Given the description of an element on the screen output the (x, y) to click on. 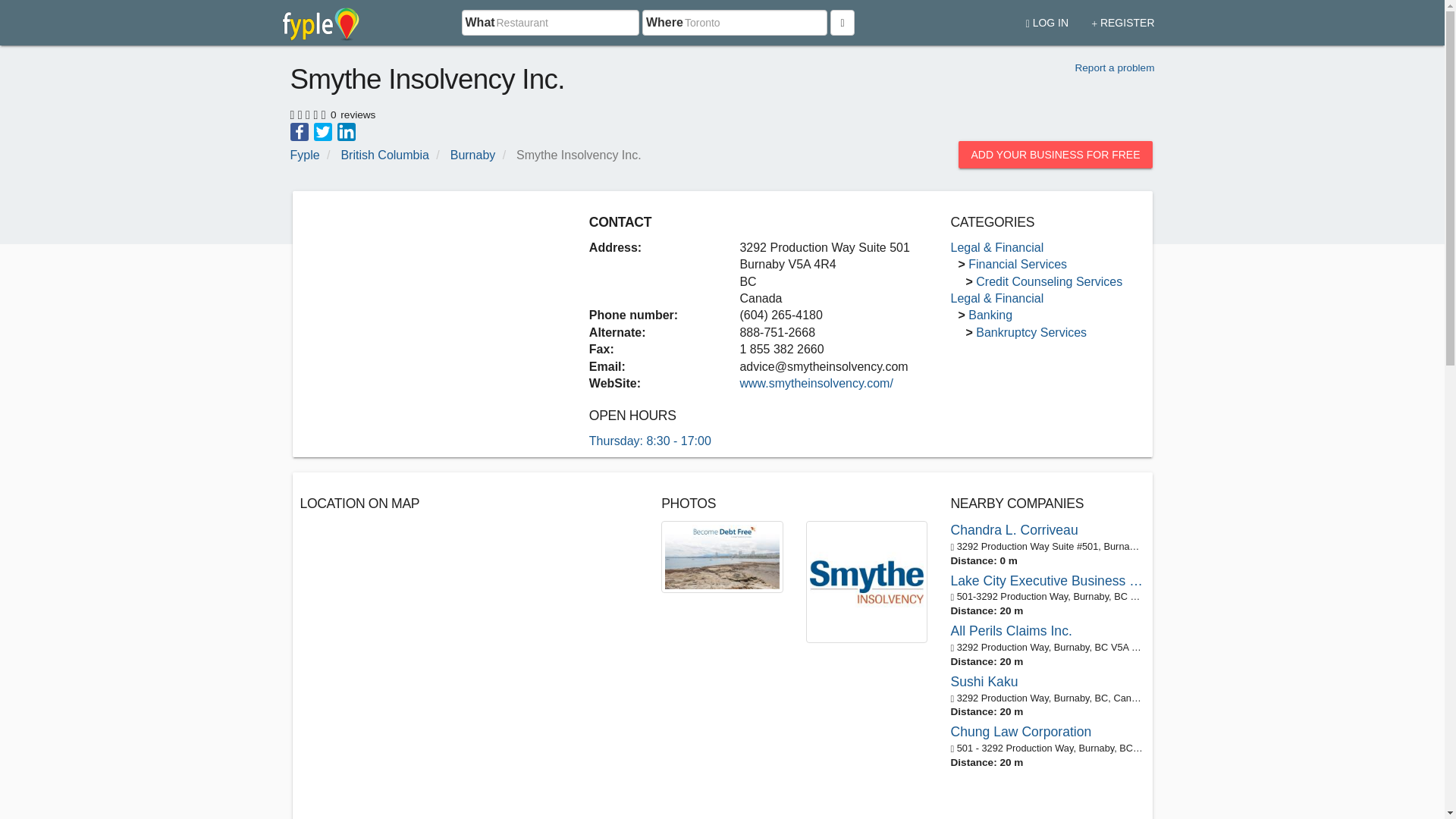
Advertisement (426, 305)
Bankruptcy Services (1030, 332)
Fyple (303, 154)
Chandra L. Corriveau (1047, 529)
Home page (320, 22)
REGISTER (1123, 17)
Advertisement (668, 796)
British Columbia (384, 154)
Banking (989, 314)
Burnaby (472, 154)
